Given the description of an element on the screen output the (x, y) to click on. 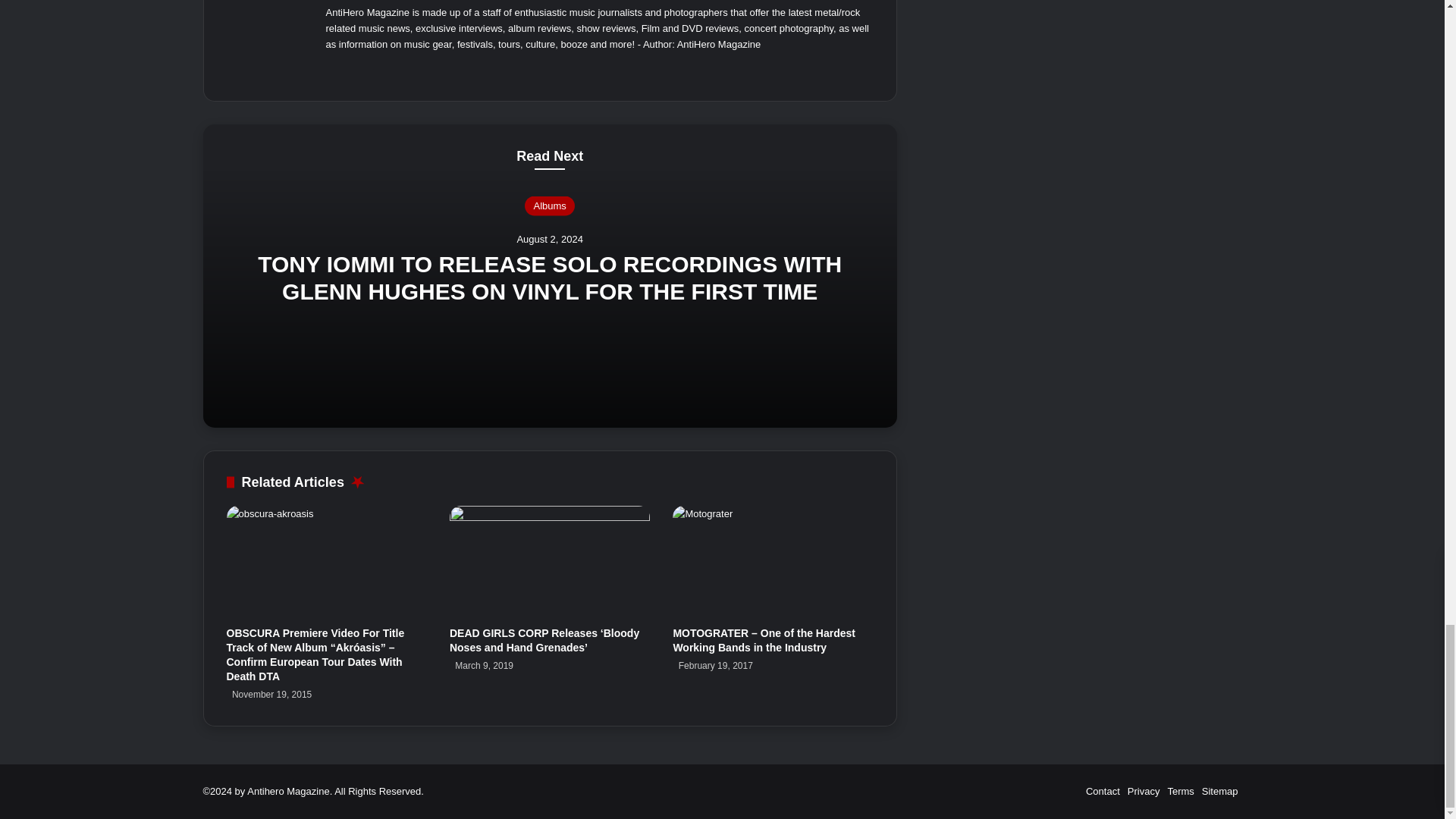
Website (334, 68)
Facebook (352, 68)
Terms and Conditions (1180, 790)
Author: AntiHero Magazine (701, 43)
Contact AntiHero Magazine (1102, 790)
X (371, 68)
LinkedIn (389, 68)
Privacy Policy (1143, 790)
Albums (548, 206)
